Given the description of an element on the screen output the (x, y) to click on. 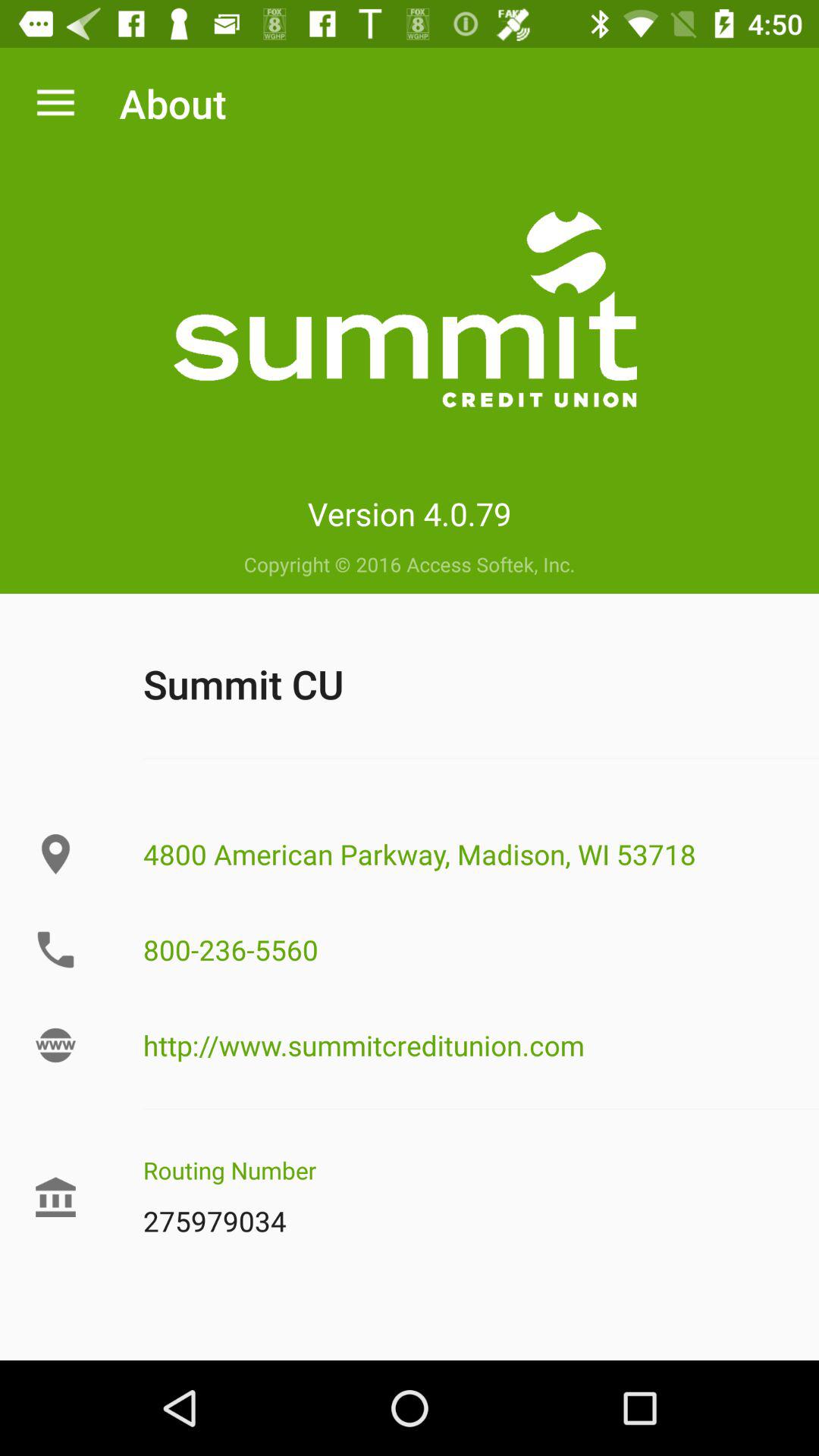
choose app to the left of about icon (55, 103)
